Given the description of an element on the screen output the (x, y) to click on. 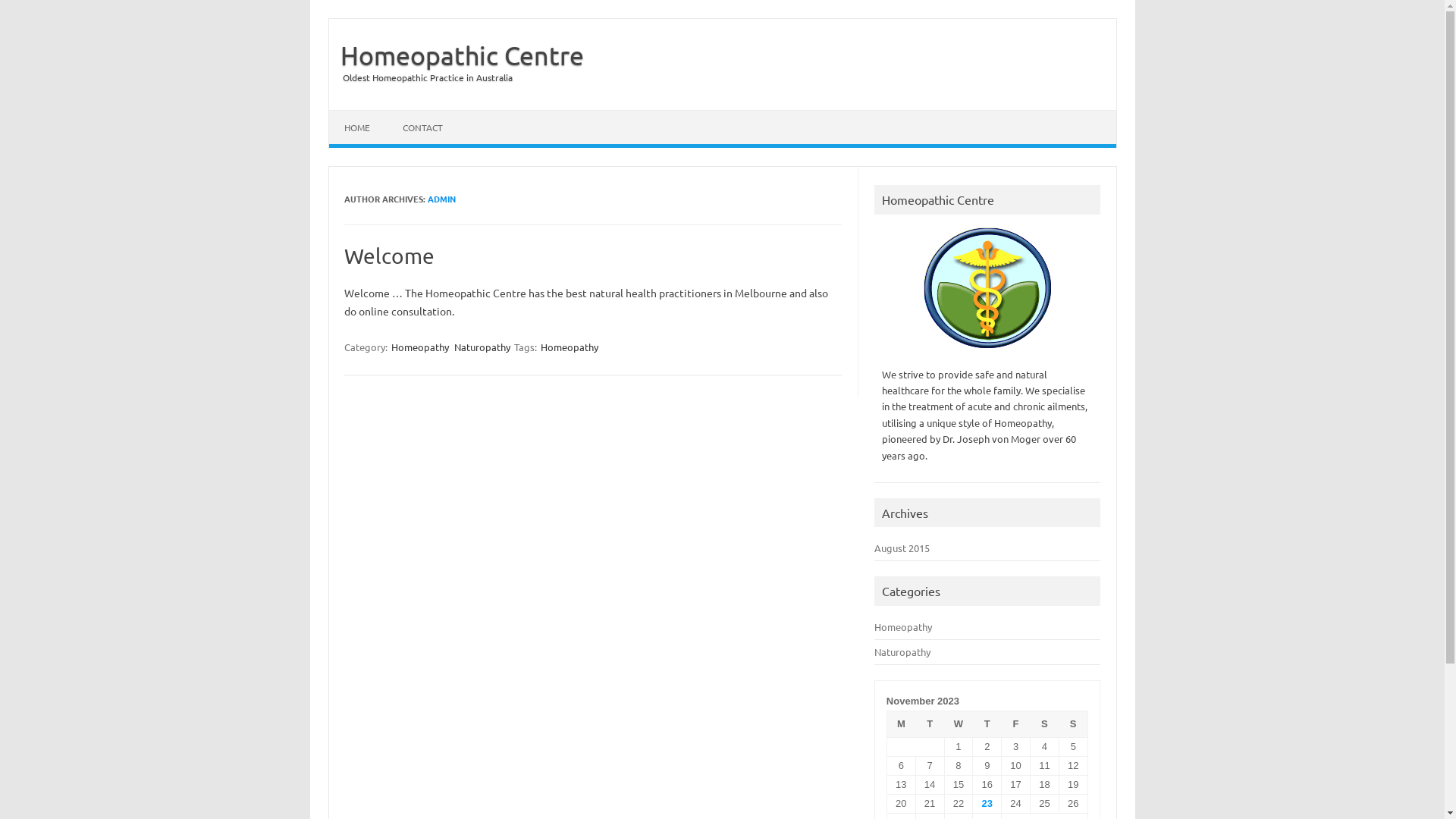
Skip to content Element type: text (365, 114)
Welcome Element type: text (389, 255)
Homeopathy Element type: text (902, 626)
ADMIN Element type: text (441, 198)
HOME Element type: text (357, 127)
Homeopathy Element type: text (419, 346)
Homeopathy Element type: text (569, 346)
CONTACT Element type: text (421, 127)
Oldest Homeopathic Practice in Australia Element type: text (420, 77)
Naturopathy Element type: text (481, 346)
August 2015 Element type: text (901, 547)
Homeopathic Centre Element type: text (456, 55)
Naturopathy Element type: text (902, 651)
